Given the description of an element on the screen output the (x, y) to click on. 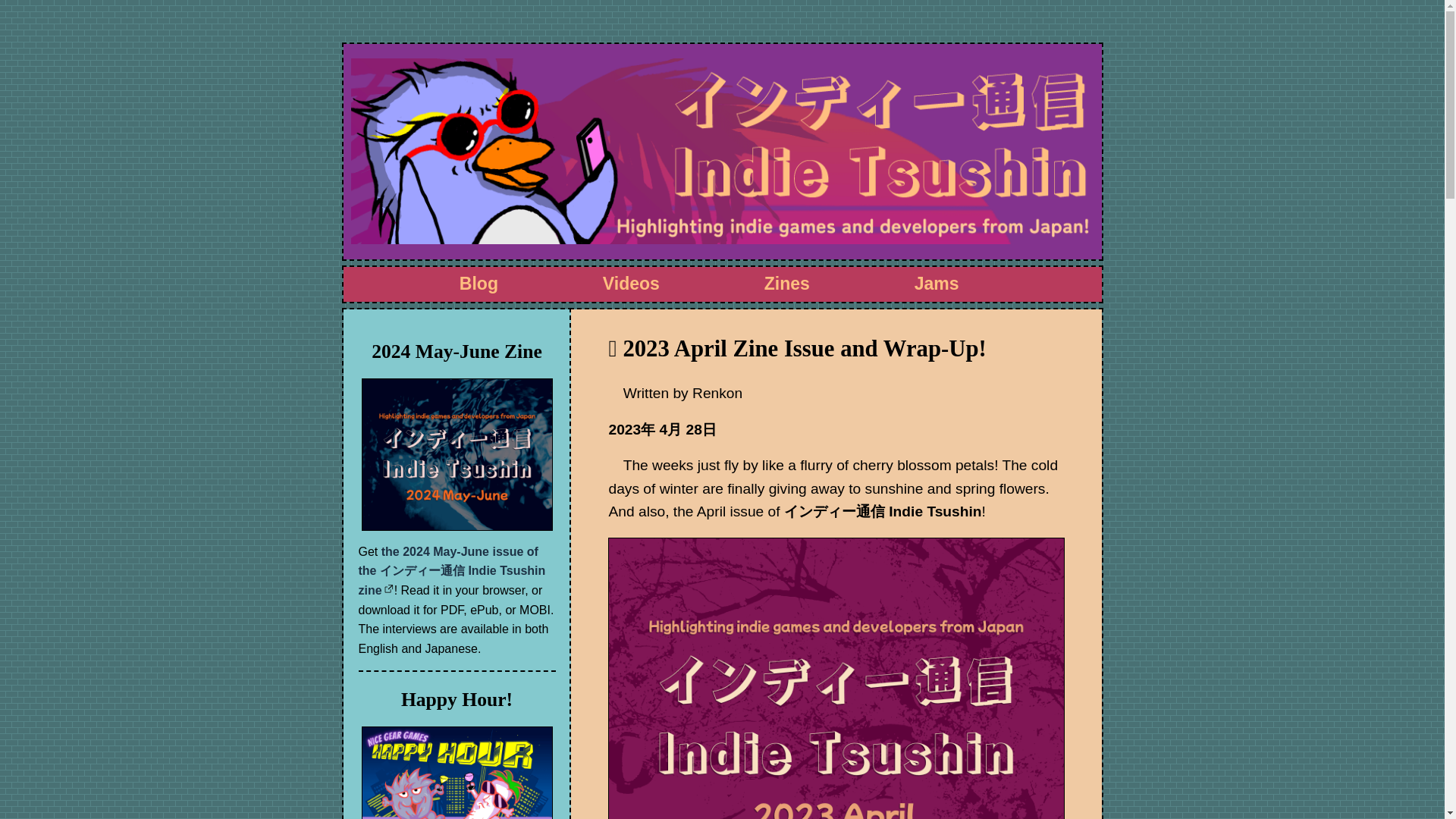
Zines (786, 283)
Videos (630, 283)
Blog (478, 283)
Jams (936, 283)
